Given the description of an element on the screen output the (x, y) to click on. 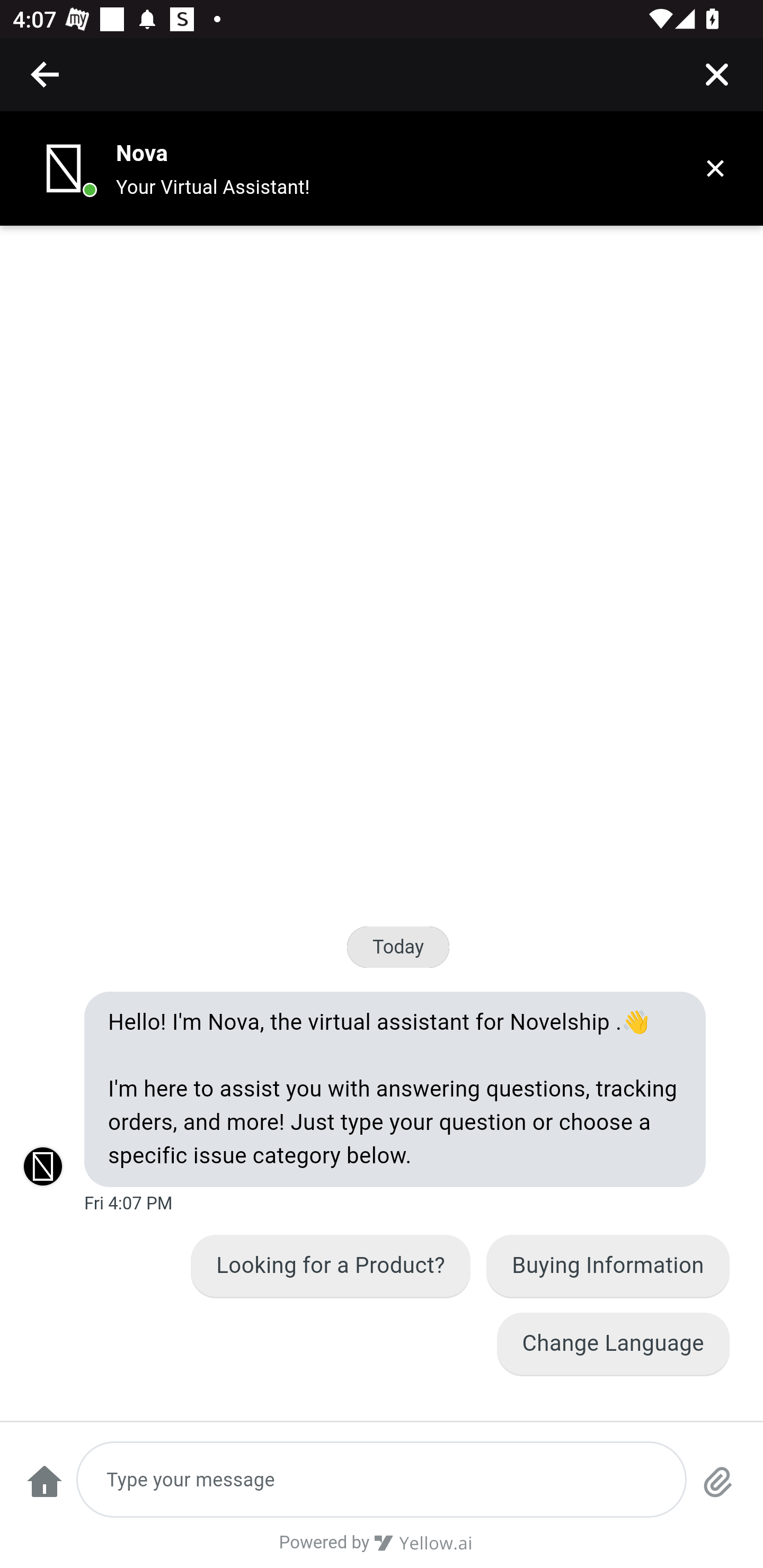
 (46, 74)
 (716, 74)
Nova bot icon (63, 168)
close bot (715, 168)
Looking for a Product? (331, 1265)
Buying Information (607, 1265)
Change Language (612, 1343)
restart conversation (44, 1489)
upload file (718, 1489)
Powered by (381, 1549)
